Given the description of an element on the screen output the (x, y) to click on. 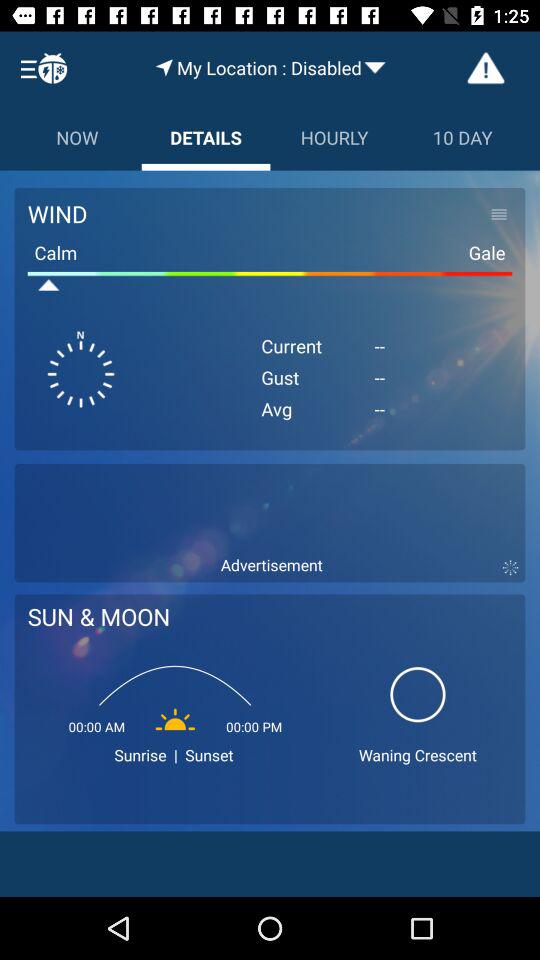
click on the icon beside my location (164, 67)
select the tab hourly on the web page (334, 137)
select the icon on the top right corner of the web page (485, 68)
